Given the description of an element on the screen output the (x, y) to click on. 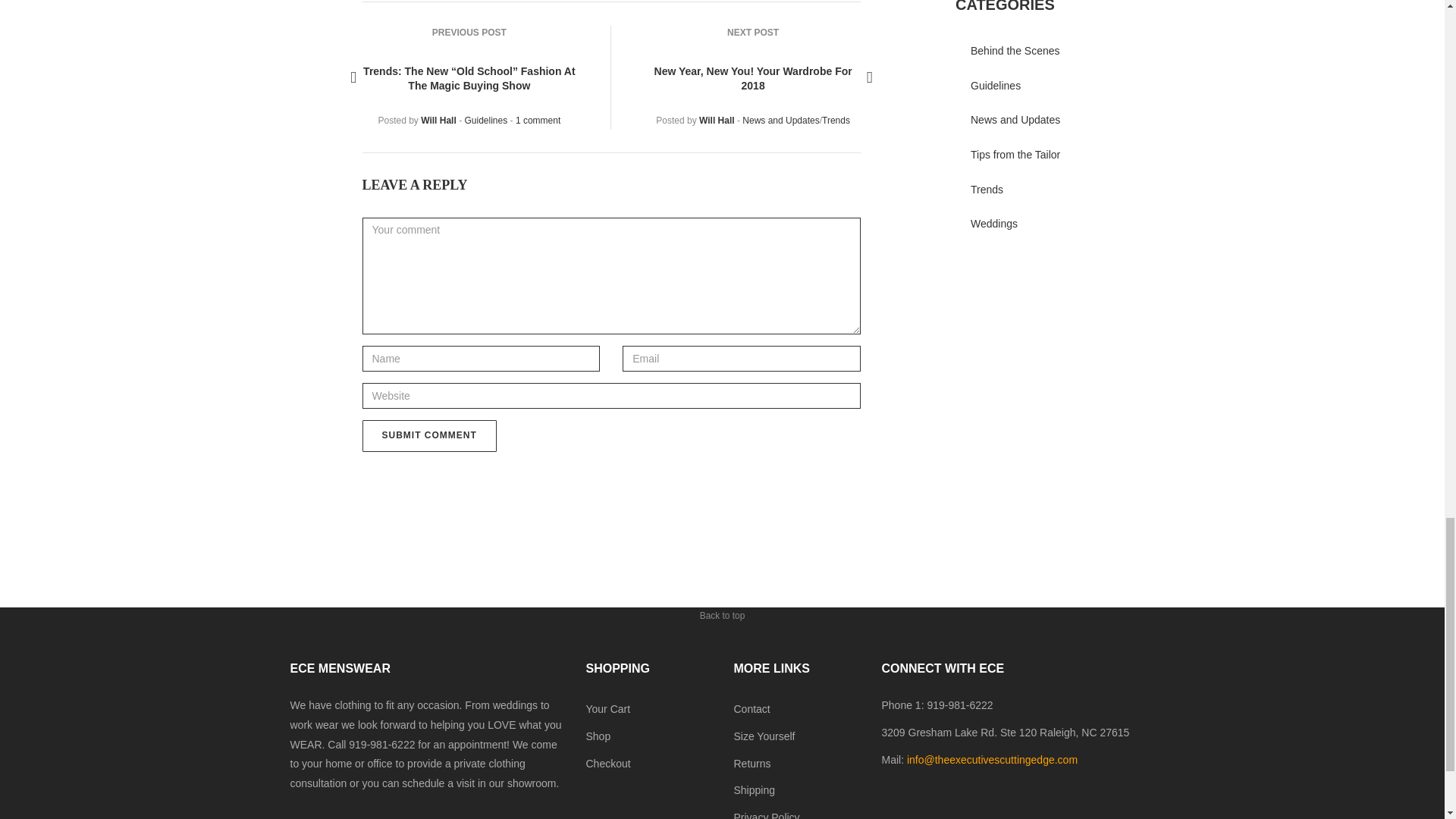
Back to top (722, 605)
Submit comment (429, 436)
News and Updates (780, 120)
Guidelines (485, 120)
Trends (836, 120)
Submit comment (429, 436)
New Year, New You! Your Wardrobe For 2018 (752, 78)
1 comment (537, 120)
